Given the description of an element on the screen output the (x, y) to click on. 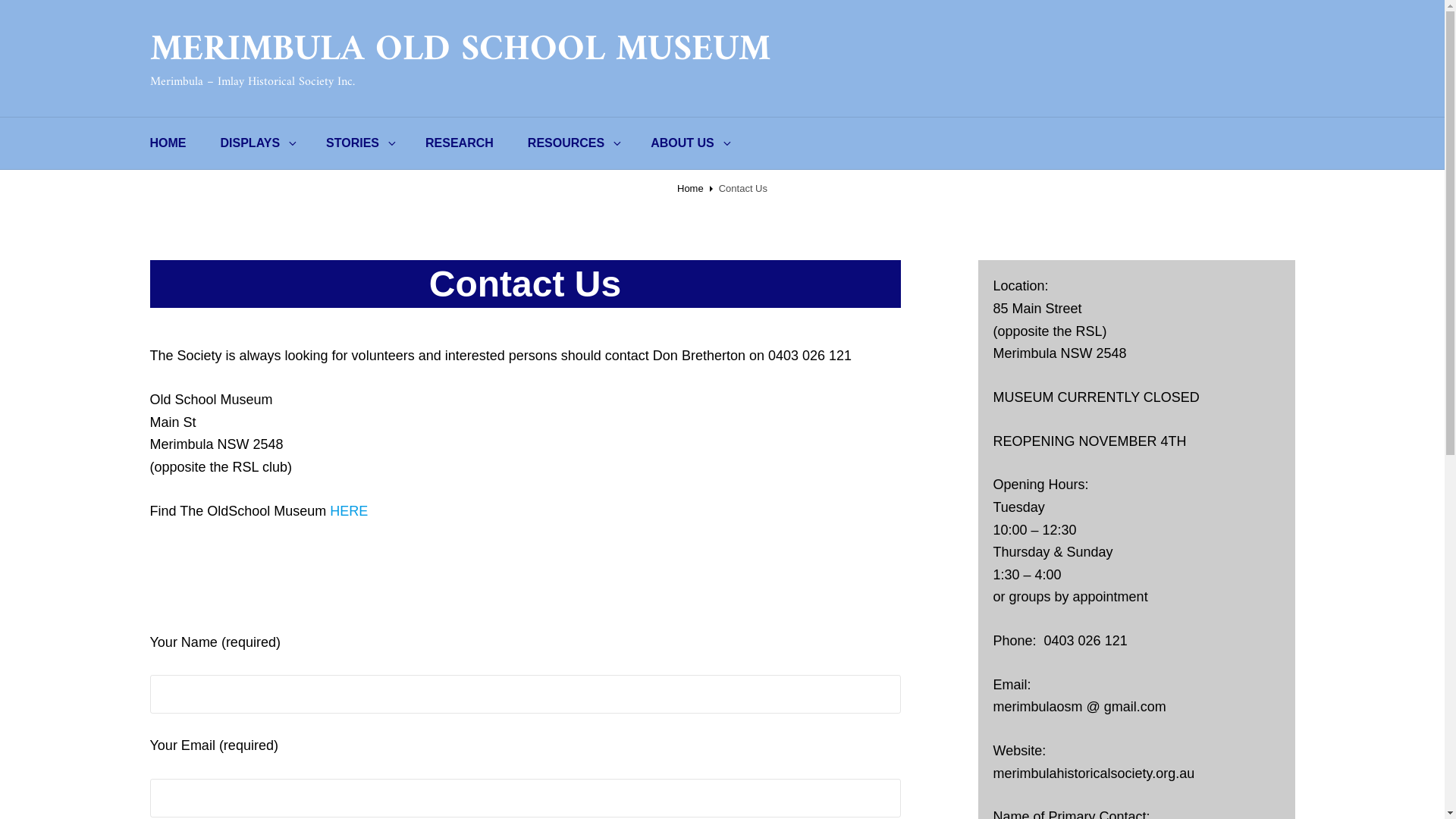
MERIMBULA OLD SCHOOL MUSEUM Element type: text (460, 49)
HERE Element type: text (348, 510)
DISPLAYS Element type: text (256, 143)
STORIES Element type: text (358, 143)
HOME Element type: text (167, 143)
Home Element type: text (690, 188)
RESEARCH Element type: text (459, 143)
RESOURCES Element type: text (571, 143)
ABOUT US Element type: text (688, 143)
